Given the description of an element on the screen output the (x, y) to click on. 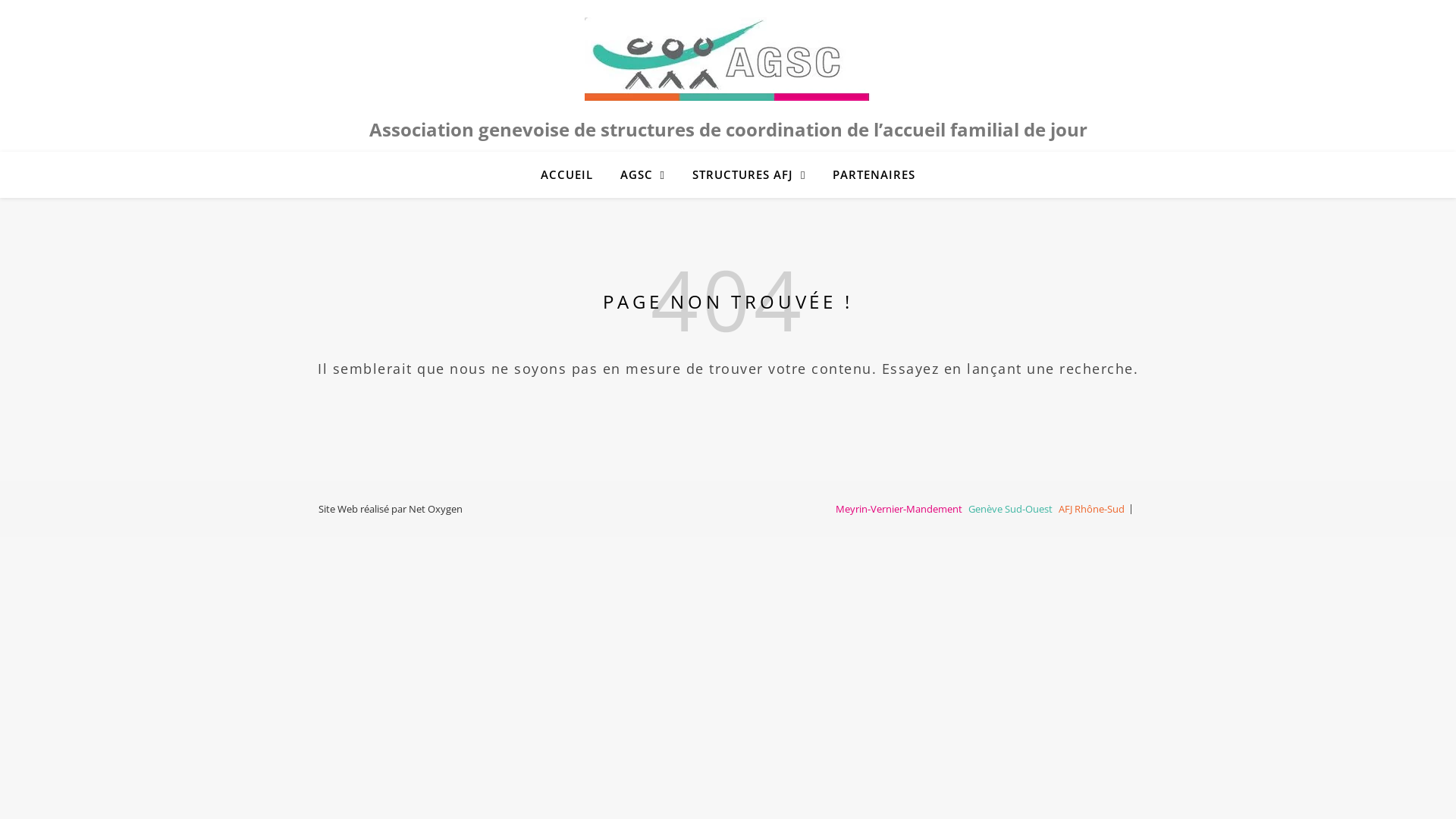
AGSC Element type: text (642, 174)
PARTENAIRES Element type: text (867, 174)
AGSC Element type: hover (727, 58)
Meyrin-Vernier-Mandement Element type: text (898, 508)
ACCUEIL Element type: text (572, 174)
Net Oxygen Element type: text (435, 508)
STRUCTURES AFJ Element type: text (748, 174)
